Given the description of an element on the screen output the (x, y) to click on. 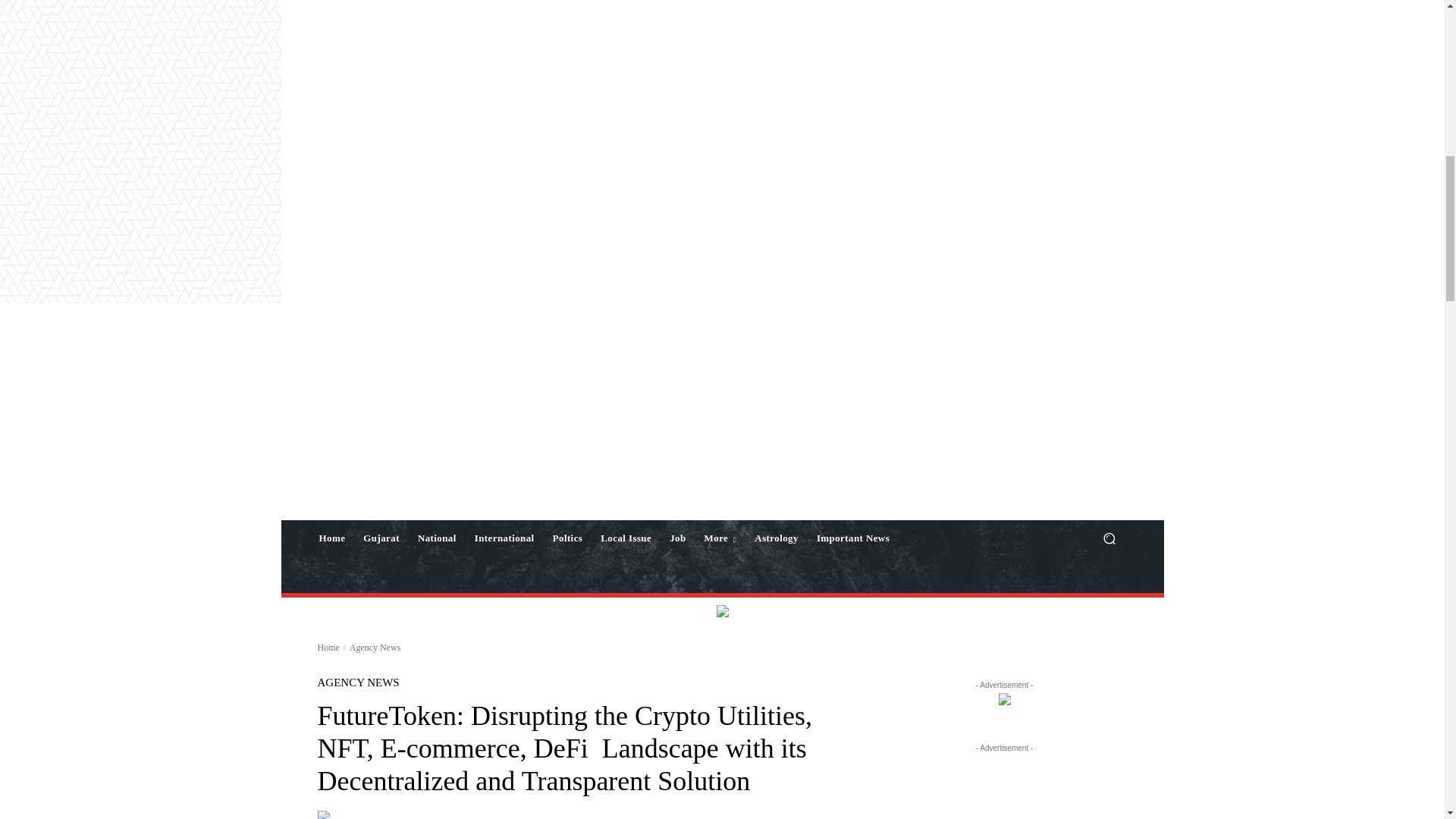
ads (722, 611)
